Given the description of an element on the screen output the (x, y) to click on. 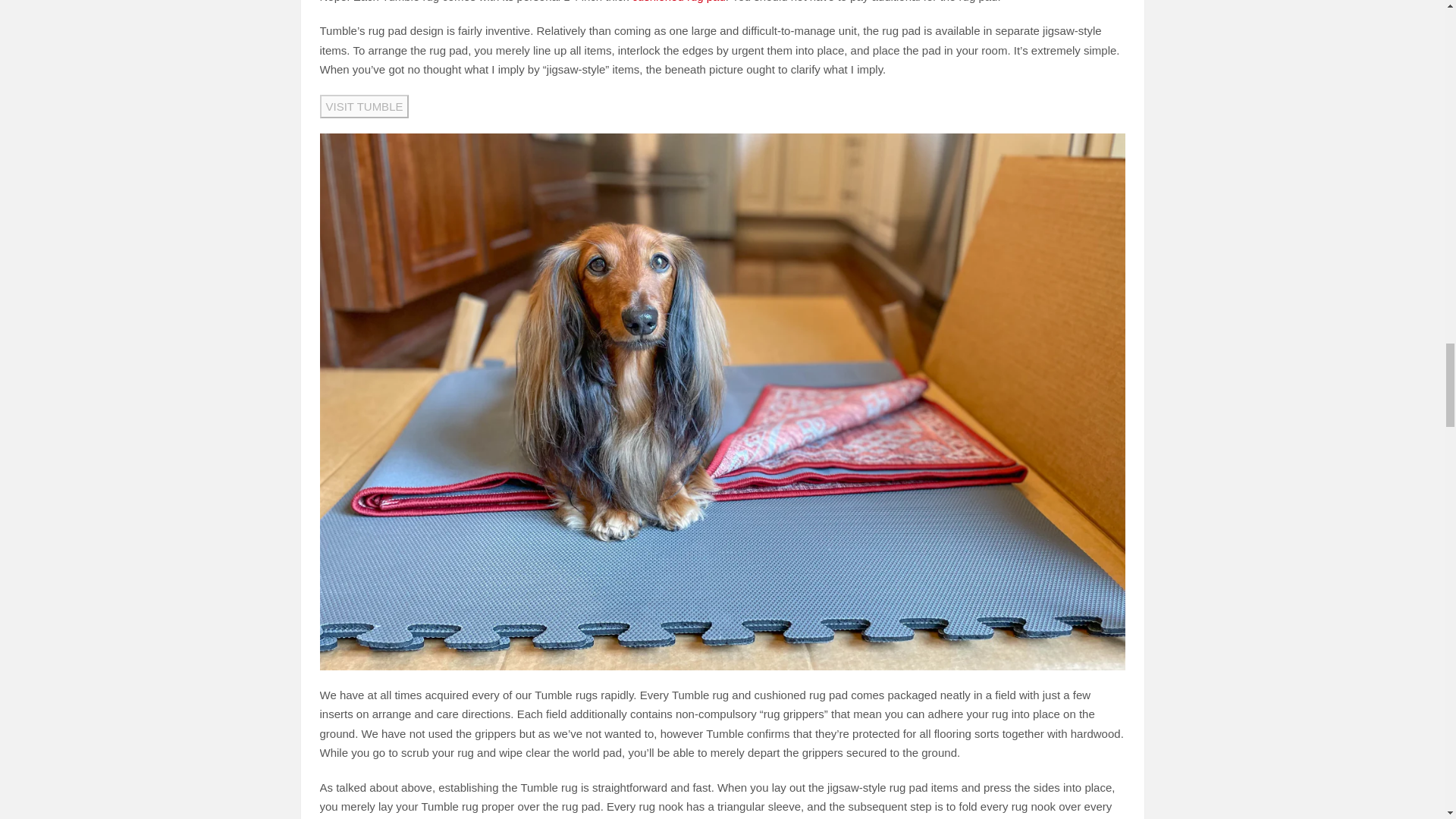
Tumble rug pads (678, 1)
